Given the description of an element on the screen output the (x, y) to click on. 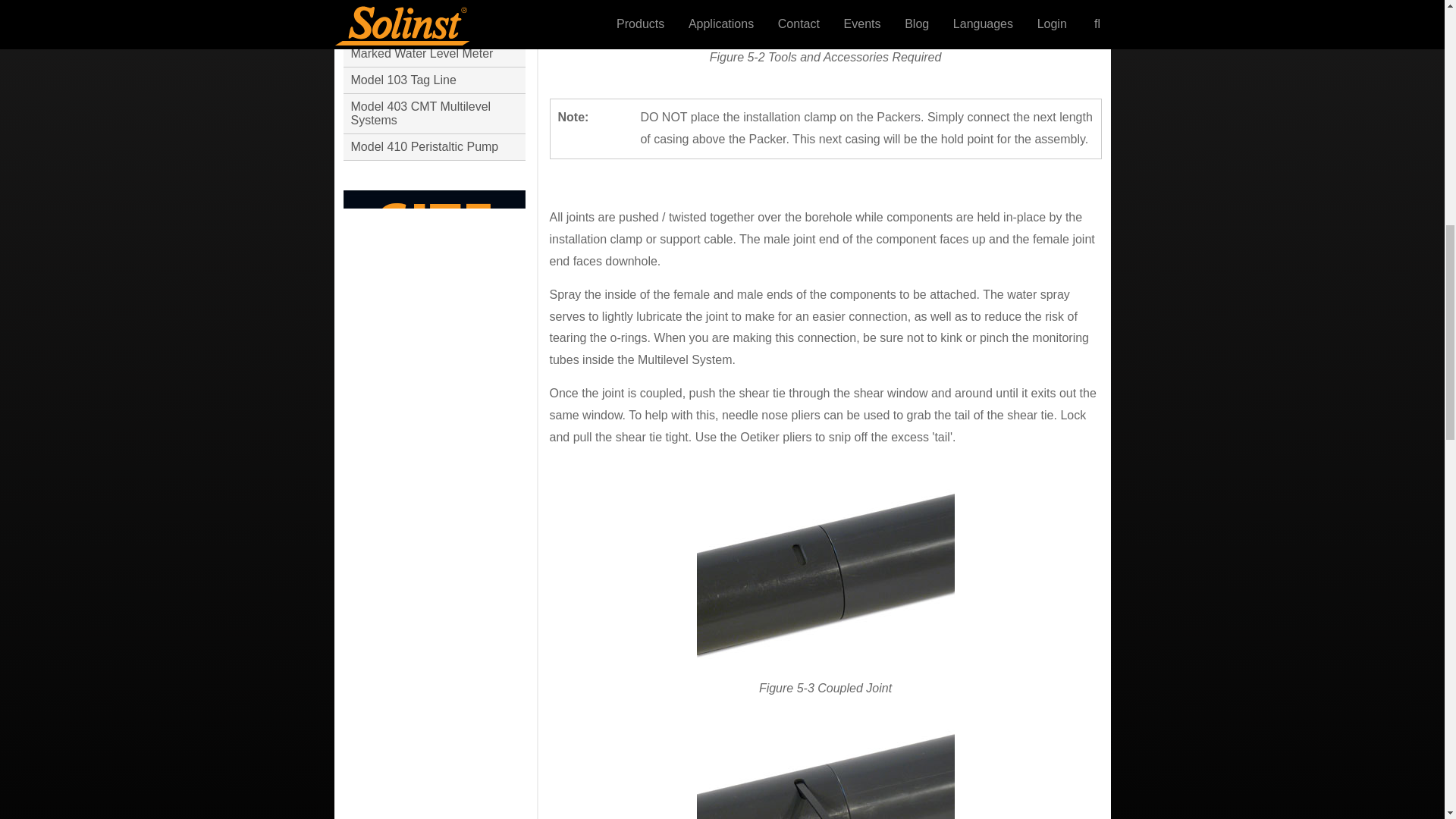
Figure 5-4 Push Shear Tie Through the Window (824, 774)
Figure 5-2 Tools and Accessories Required (824, 14)
Figure 5-3 Coupled Joint (824, 573)
